Given the description of an element on the screen output the (x, y) to click on. 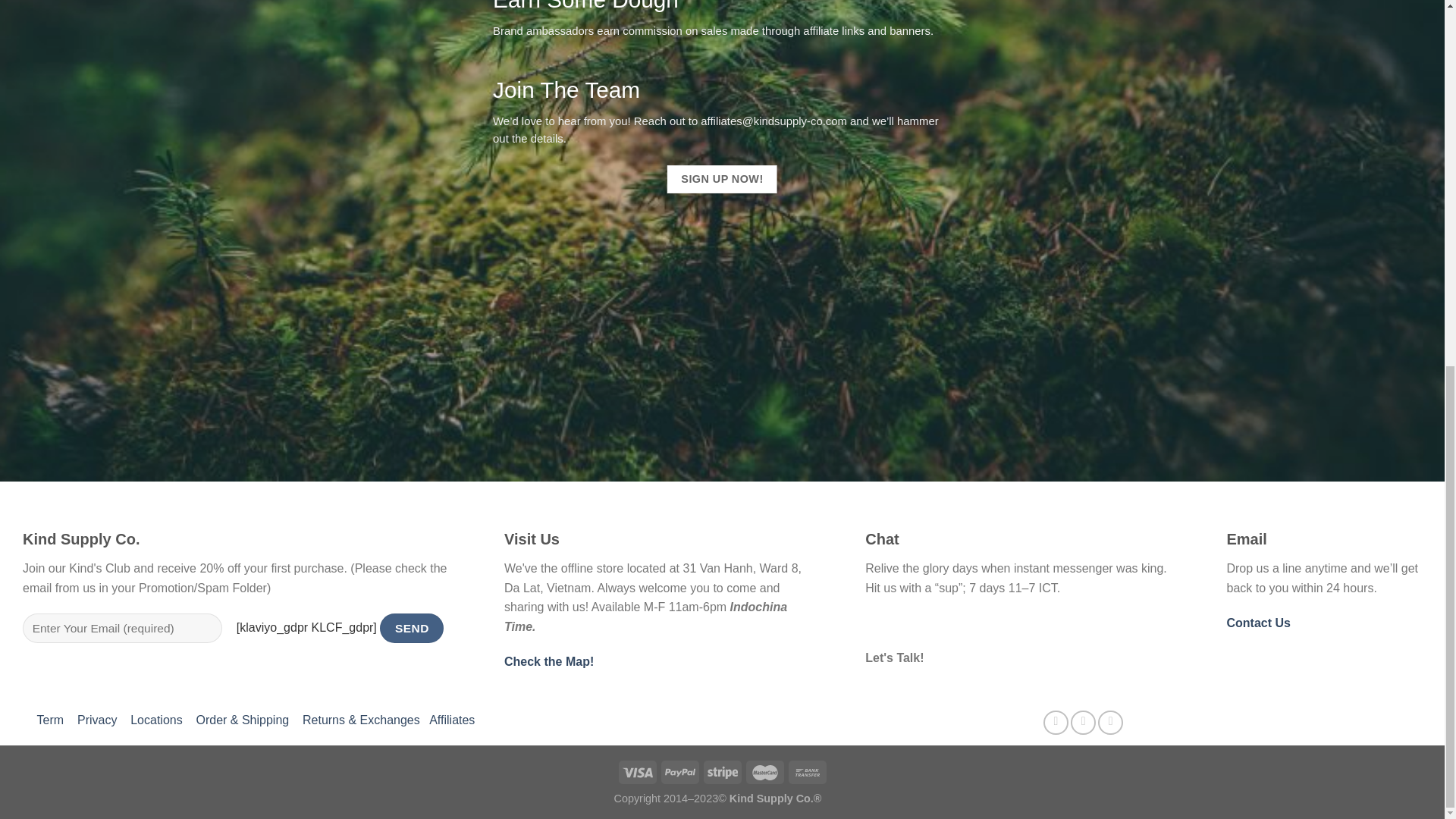
Check the Map! (548, 661)
Send (412, 627)
SIGN UP NOW! (721, 179)
Contact Us (1257, 622)
Privacy (96, 718)
Send (412, 627)
Follow on Instagram (1083, 722)
Term (50, 718)
Locations (157, 718)
Follow on Pinterest (1109, 722)
